Given the description of an element on the screen output the (x, y) to click on. 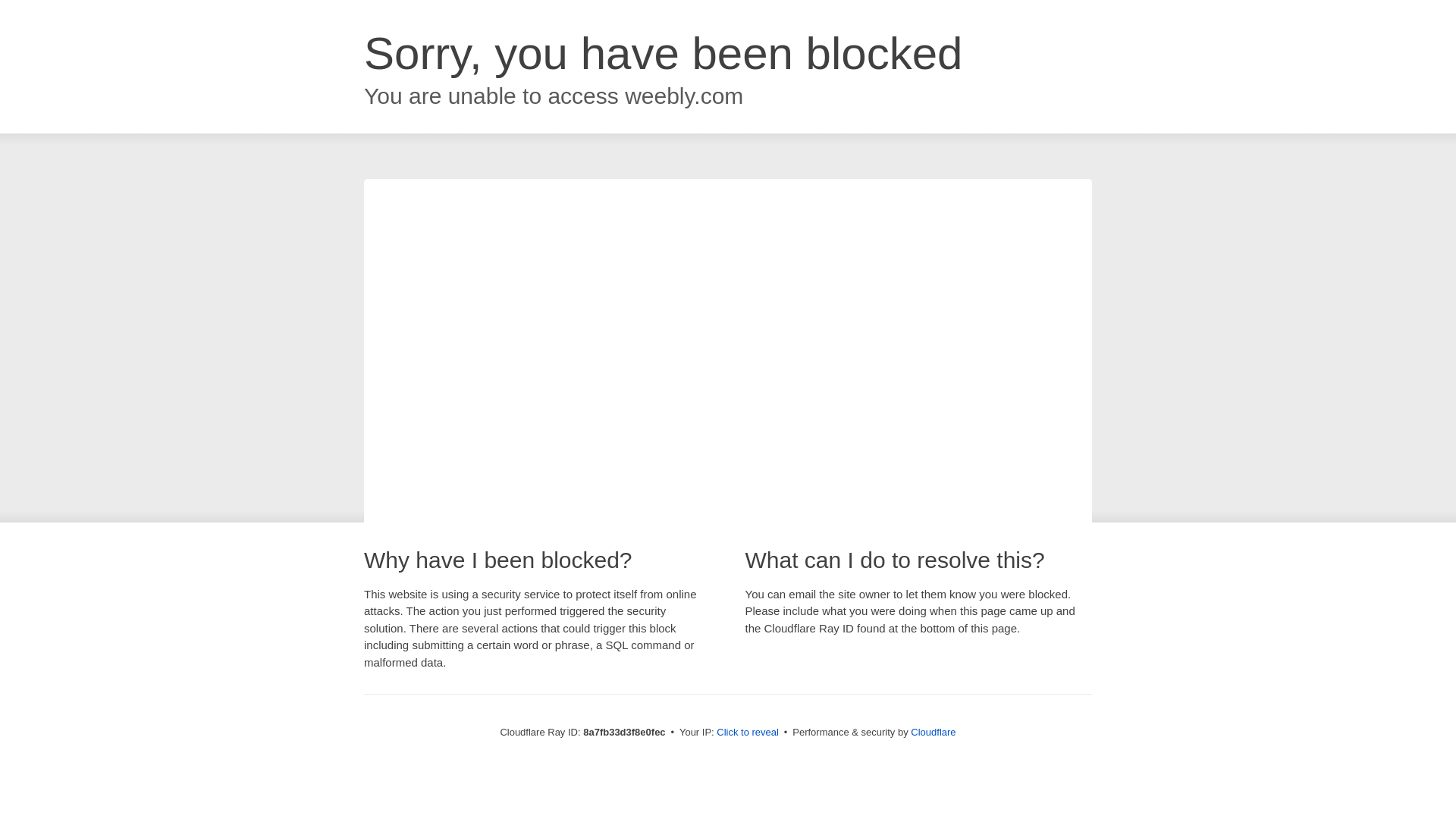
Cloudflare (933, 731)
Click to reveal (747, 732)
